Given the description of an element on the screen output the (x, y) to click on. 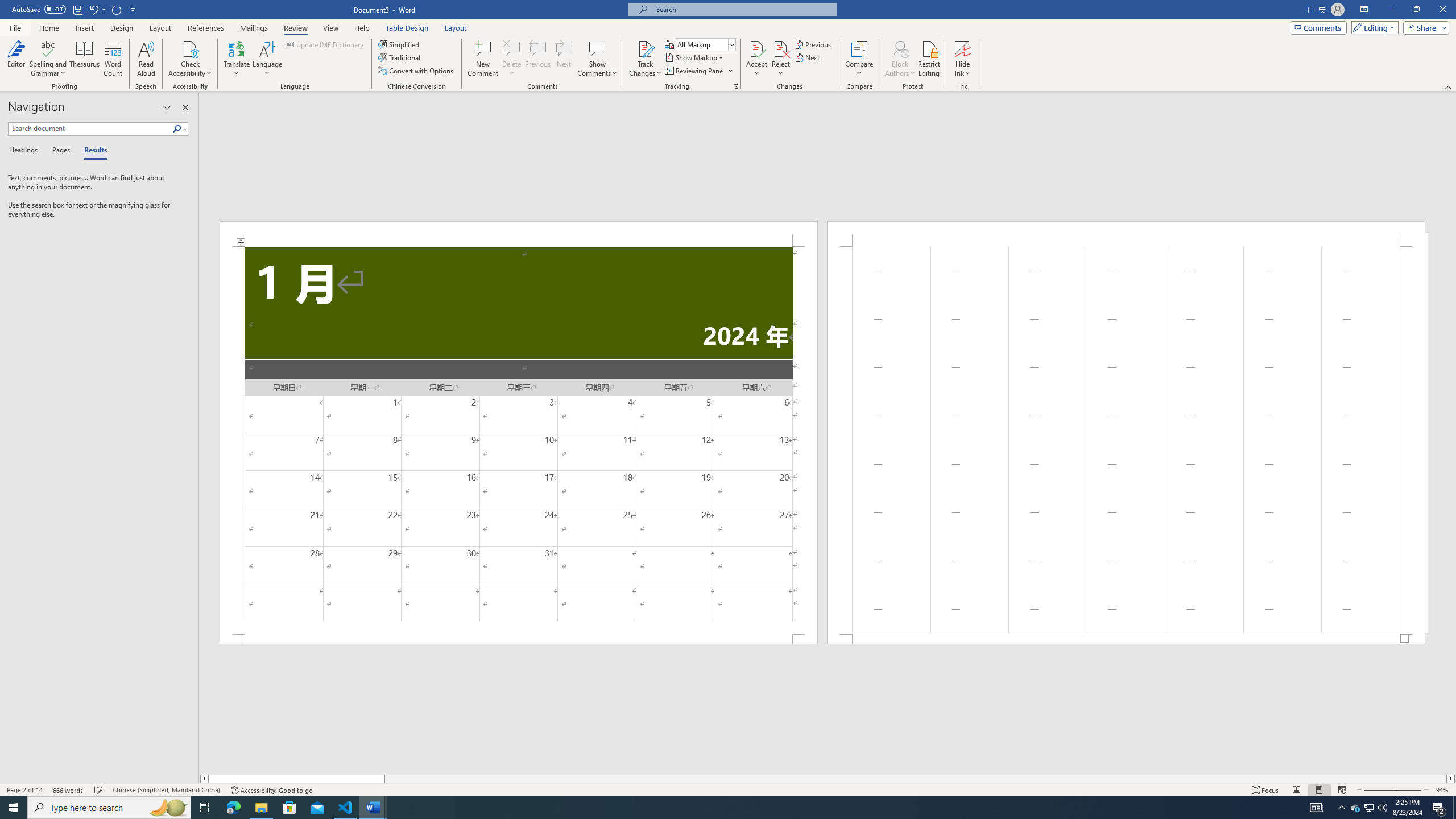
Display for Review (705, 44)
Show Markup (695, 56)
Track Changes (644, 48)
Show Comments (597, 58)
Page 2 content (1126, 439)
Hide Ink (962, 48)
Reject and Move to Next (780, 48)
Restrict Editing (929, 58)
Block Authors (900, 58)
